Given the description of an element on the screen output the (x, y) to click on. 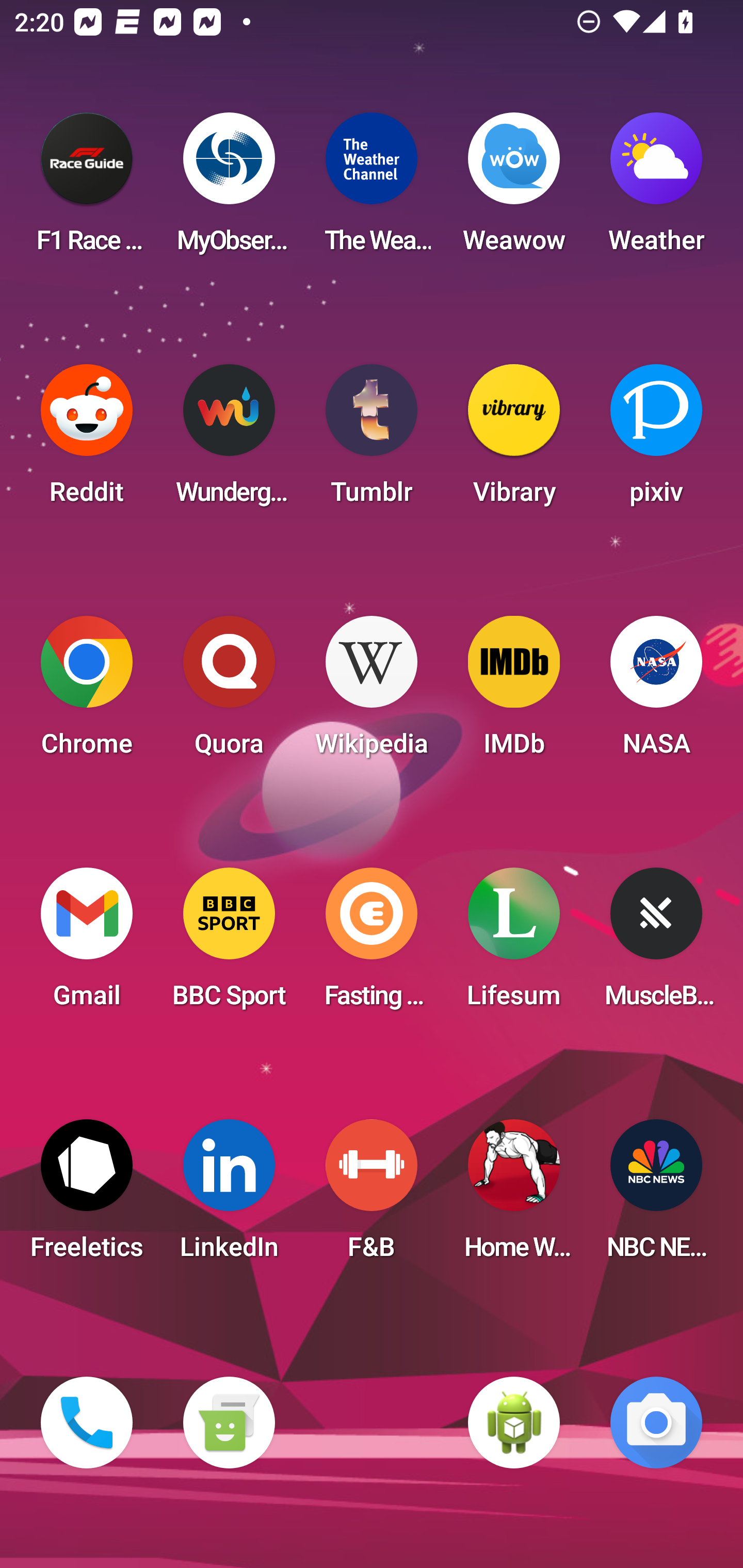
F1 Race Guide (86, 188)
MyObservatory (228, 188)
The Weather Channel (371, 188)
Weawow (513, 188)
Weather (656, 188)
Reddit (86, 440)
Wunderground (228, 440)
Tumblr (371, 440)
Vibrary (513, 440)
pixiv (656, 440)
Chrome (86, 692)
Quora (228, 692)
Wikipedia (371, 692)
IMDb (513, 692)
NASA (656, 692)
Gmail (86, 943)
BBC Sport (228, 943)
Fasting Coach (371, 943)
Lifesum (513, 943)
MuscleBooster (656, 943)
Freeletics (86, 1195)
LinkedIn (228, 1195)
F&B (371, 1195)
Home Workout (513, 1195)
NBC NEWS (656, 1195)
Phone (86, 1422)
Messaging (228, 1422)
WebView Browser Tester (513, 1422)
Camera (656, 1422)
